Given the description of an element on the screen output the (x, y) to click on. 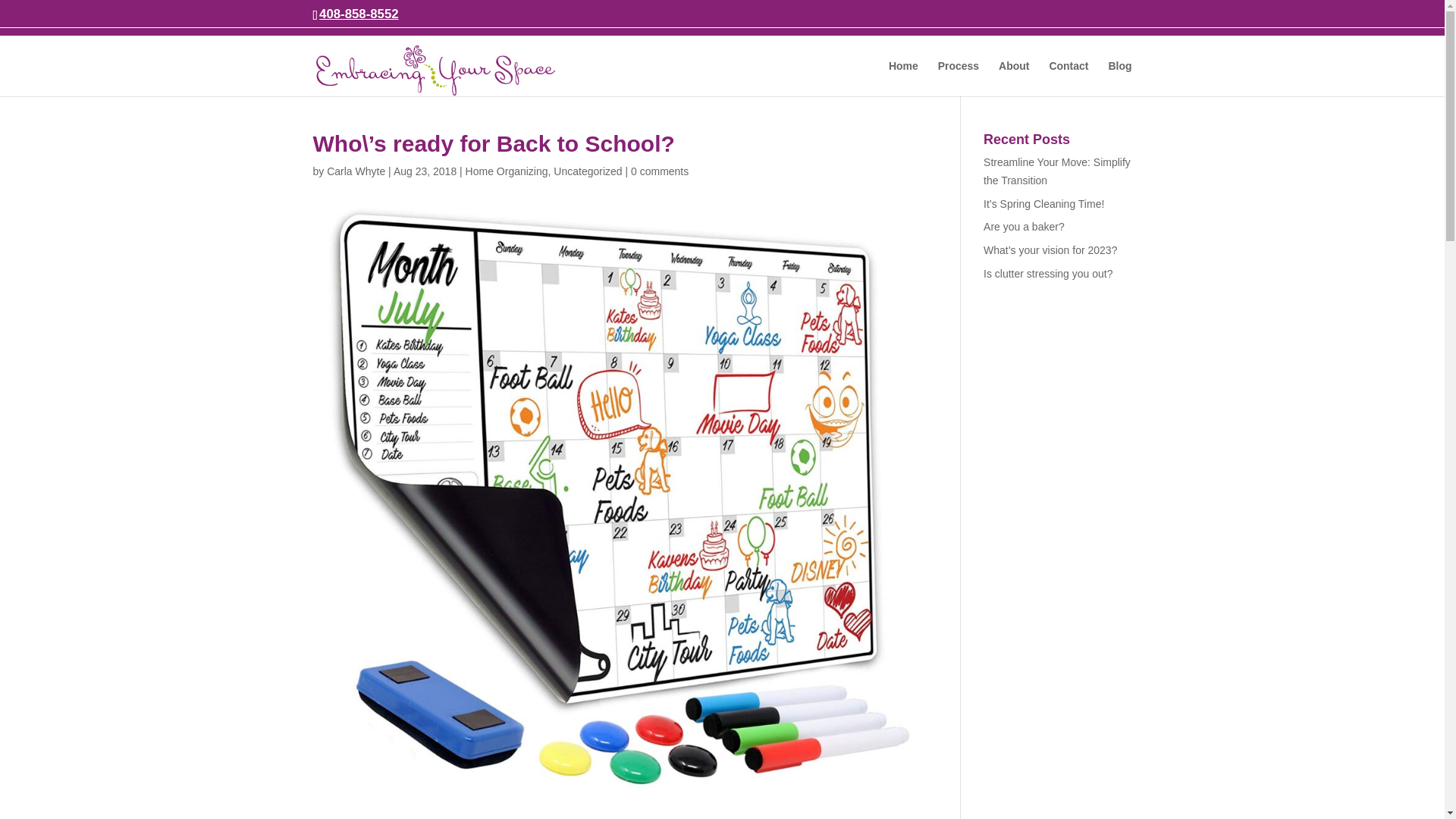
Contact (1067, 78)
Posts by Carla Whyte (355, 171)
Carla Whyte (355, 171)
408-858-8552 (358, 13)
Is clutter stressing you out? (1048, 273)
Home Organizing (506, 171)
Streamline Your Move: Simplify the Transition (1057, 171)
0 comments (659, 171)
Are you a baker? (1024, 226)
Uncategorized (587, 171)
Process (957, 78)
